Given the description of an element on the screen output the (x, y) to click on. 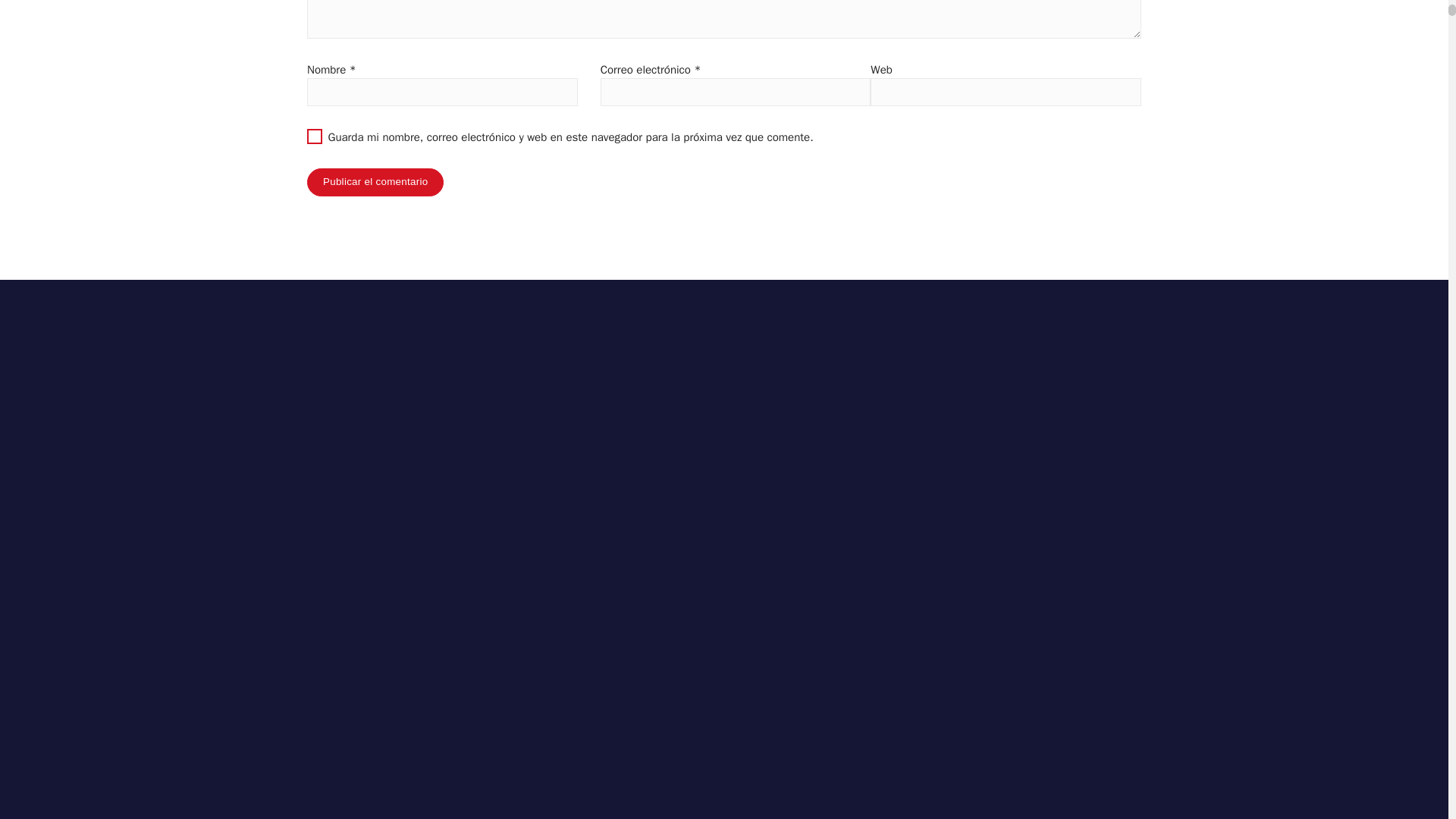
Publicar el comentario (375, 182)
yes (314, 136)
Publicar el comentario (375, 182)
